Given the description of an element on the screen output the (x, y) to click on. 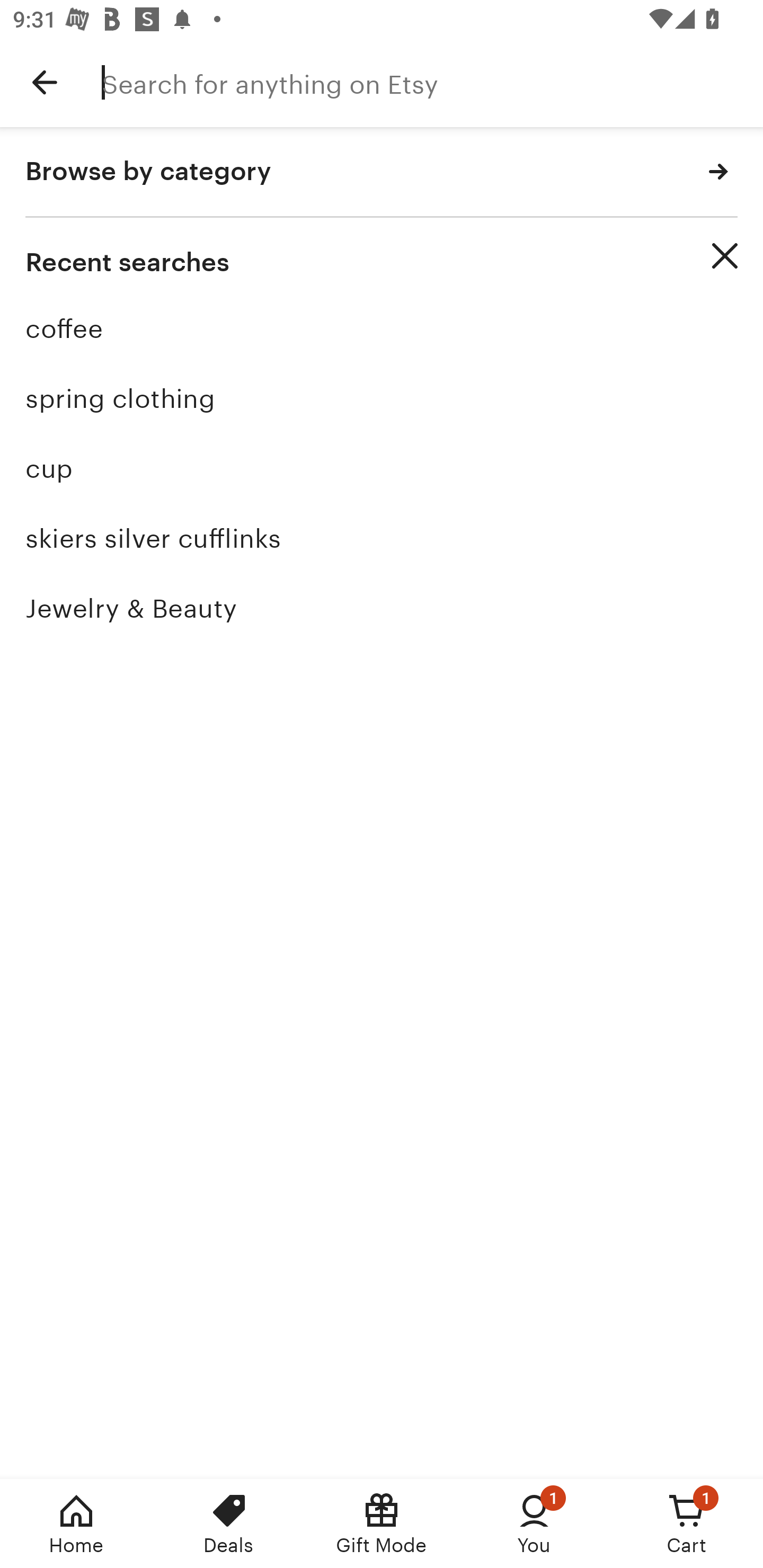
Navigate up (44, 82)
Search for anything on Etsy (432, 82)
Browse by category (381, 172)
Clear (724, 255)
coffee (381, 328)
spring clothing (381, 398)
cup (381, 468)
skiers silver cufflinks (381, 538)
Jewelry & Beauty (381, 607)
Home (76, 1523)
Gift Mode (381, 1523)
You, 1 new notification You (533, 1523)
Cart, 1 new notification Cart (686, 1523)
